Given the description of an element on the screen output the (x, y) to click on. 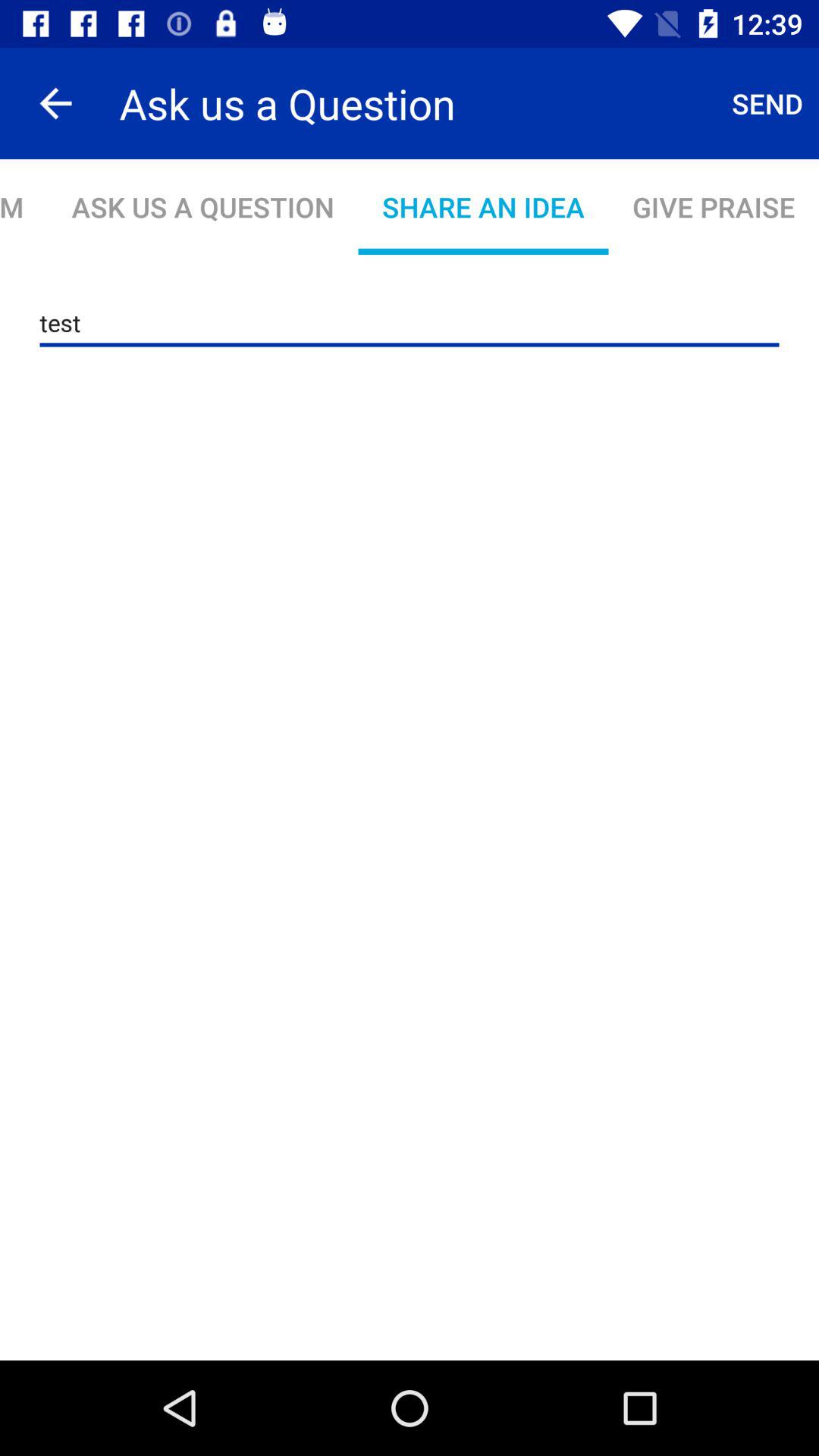
tap test (409, 323)
